Given the description of an element on the screen output the (x, y) to click on. 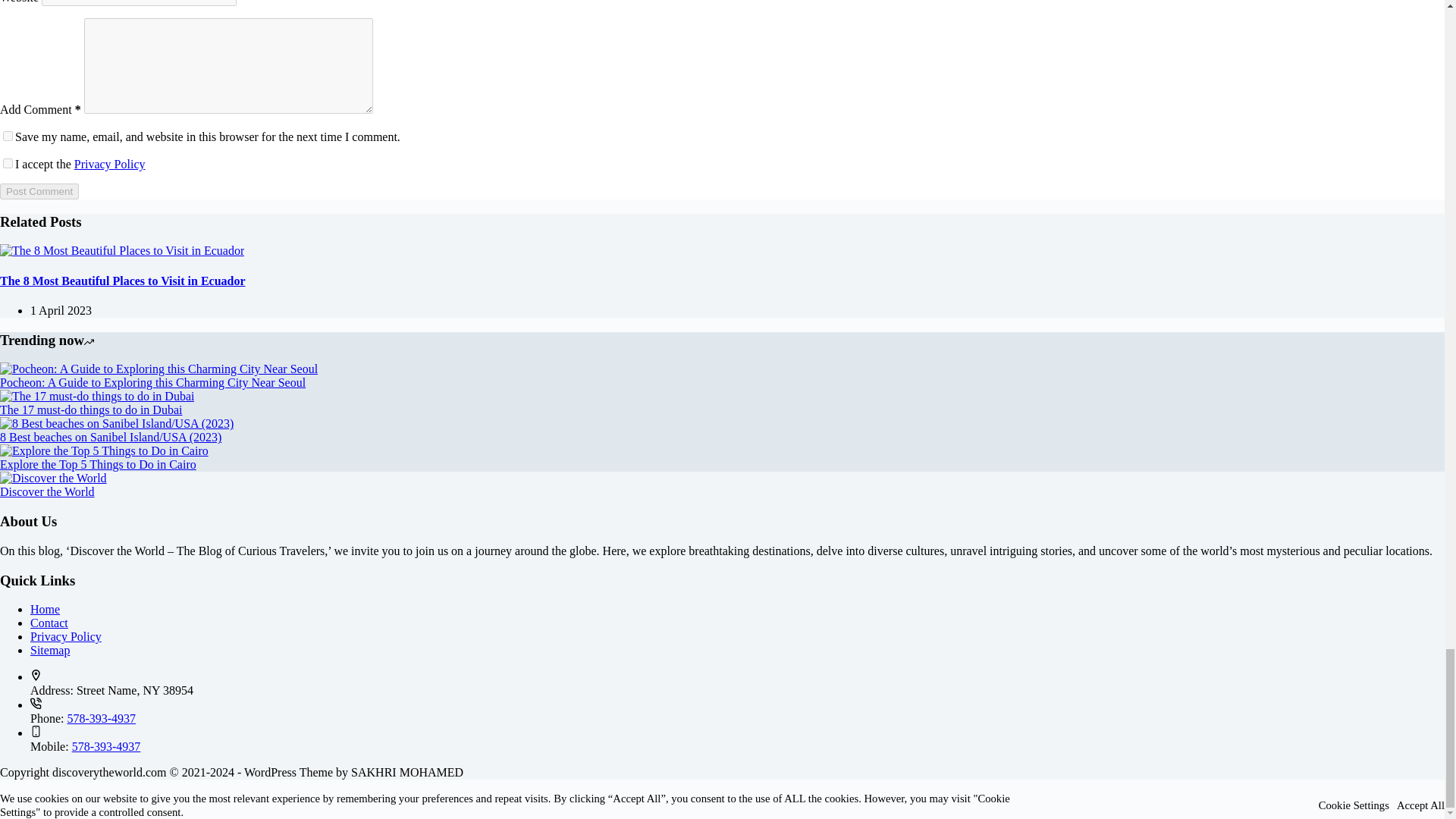
Pocheon: A Guide to Exploring this Charming City Near Seoul (158, 368)
yes (7, 135)
The 8 Most Beautiful Places to Visit in Ecuador (122, 250)
on (7, 163)
